Given the description of an element on the screen output the (x, y) to click on. 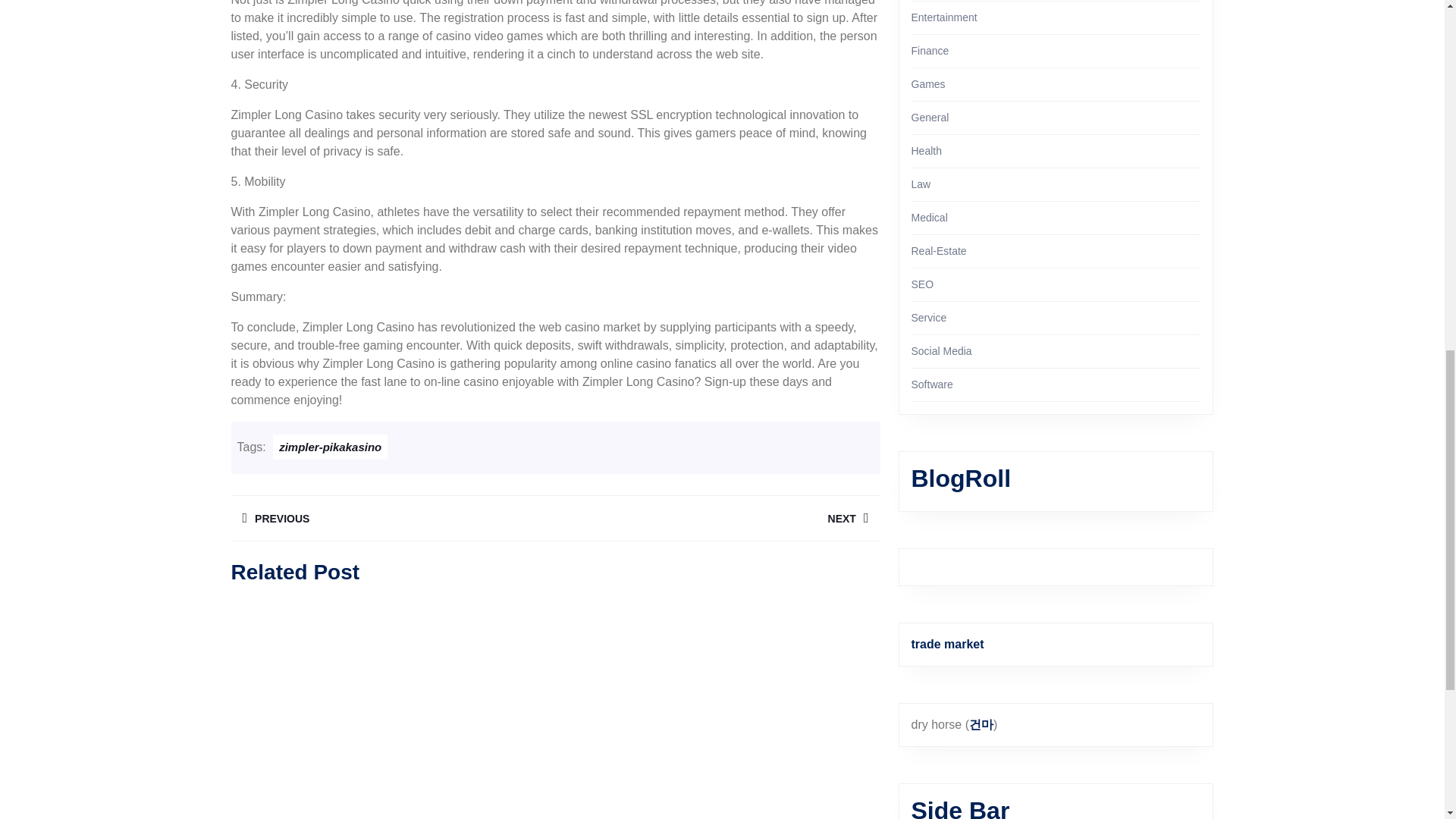
Law (921, 184)
Health (926, 150)
Finance (930, 50)
General (930, 117)
Games (392, 518)
zimpler-pikakasino (927, 83)
Entertainment (716, 518)
